Given the description of an element on the screen output the (x, y) to click on. 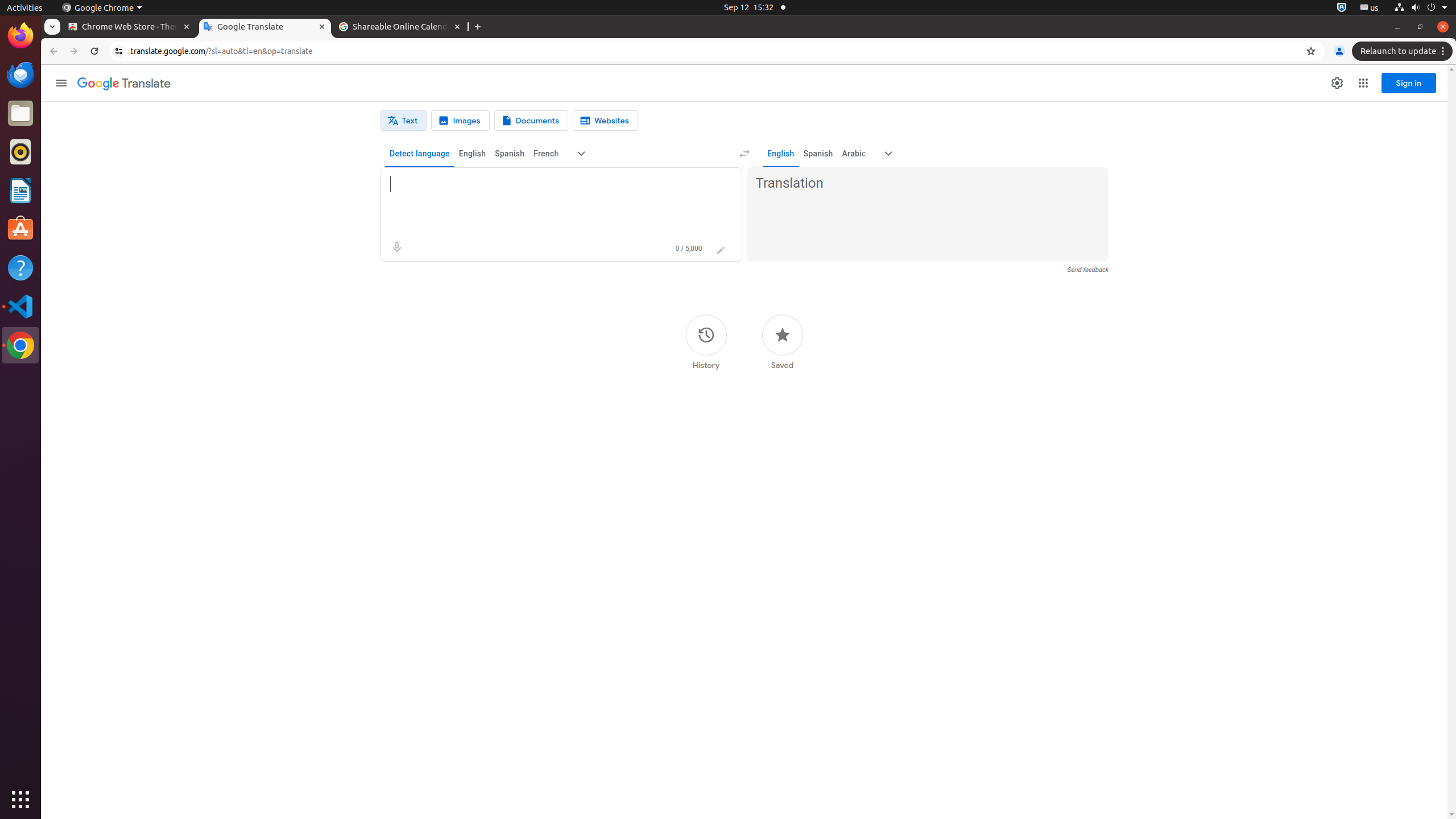
Bookmark this tab Element type: push-button (1310, 51)
Google Translate Element type: link (123, 84)
English Element type: page-tab (471, 153)
:1.72/StatusNotifierItem Element type: menu (1341, 7)
Spanish Element type: page-tab (508, 153)
